Given the description of an element on the screen output the (x, y) to click on. 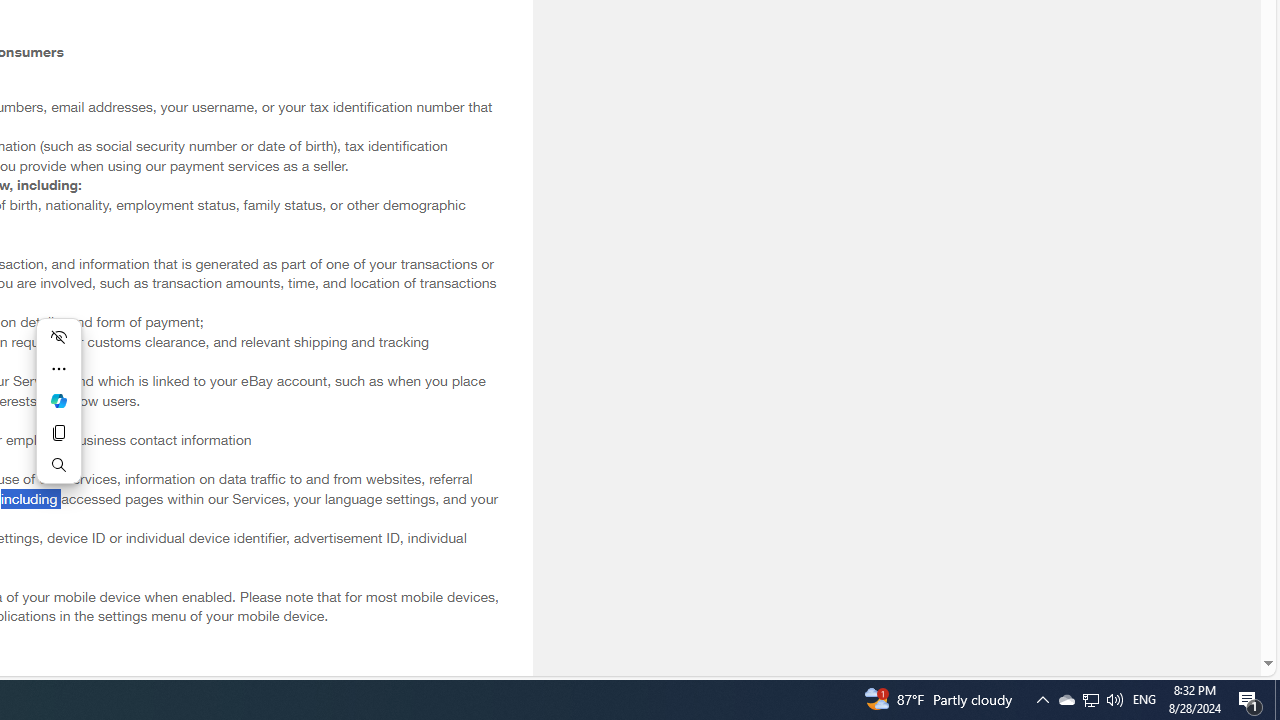
Copy (58, 432)
Hide menu (58, 336)
Mini menu on text selection (58, 400)
Ask Copilot (58, 400)
More actions (58, 368)
Mini menu on text selection (58, 412)
